Given the description of an element on the screen output the (x, y) to click on. 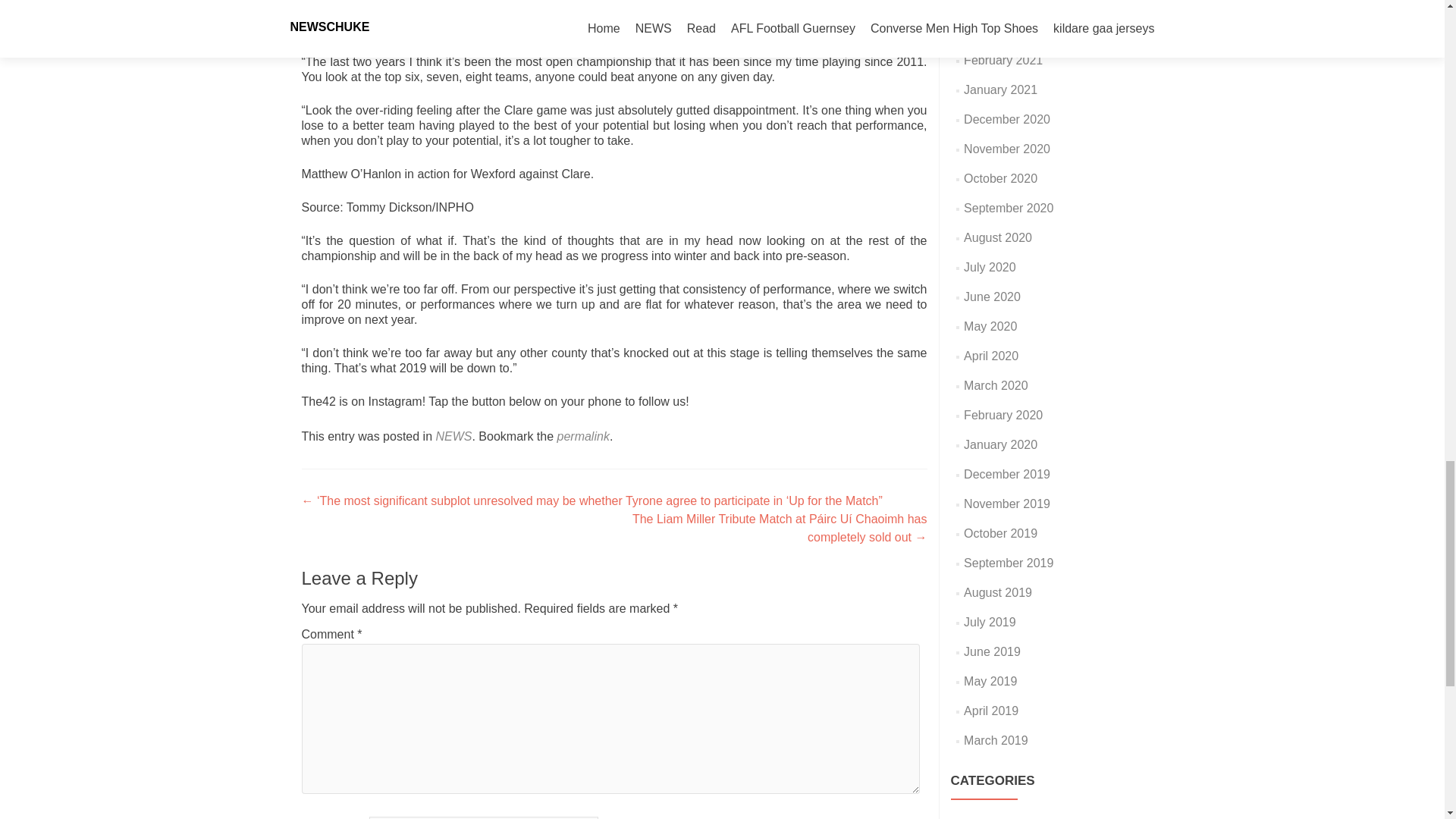
permalink (583, 436)
NEWS (453, 436)
